Given the description of an element on the screen output the (x, y) to click on. 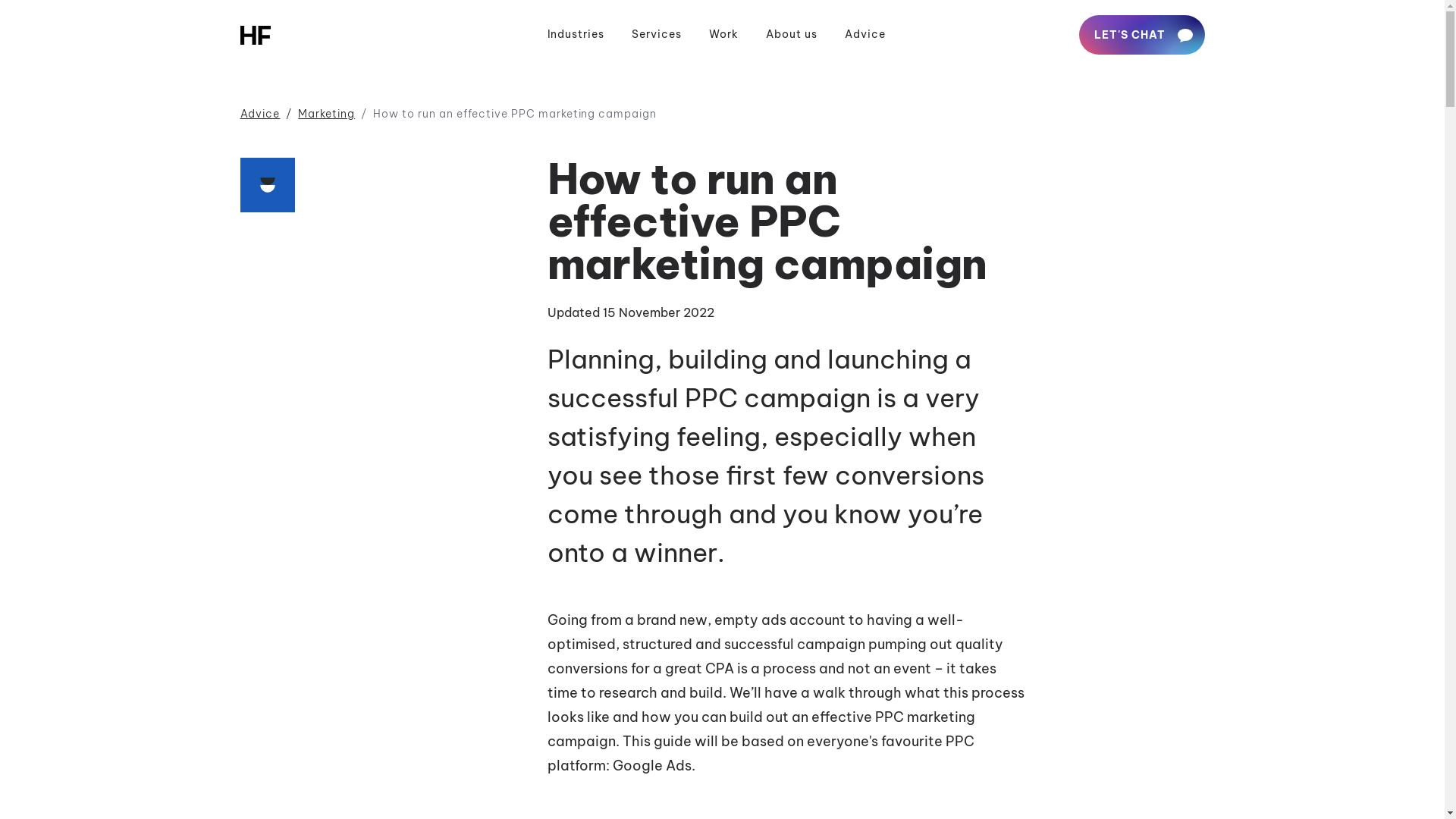
Advice Element type: text (259, 113)
About us Element type: text (791, 34)
Work Element type: text (723, 34)
LET'S CHAT Element type: text (1141, 34)
Industries Element type: text (576, 34)
Advice Element type: text (864, 34)
Services Element type: text (656, 34)
Marketing Element type: text (326, 113)
